Given the description of an element on the screen output the (x, y) to click on. 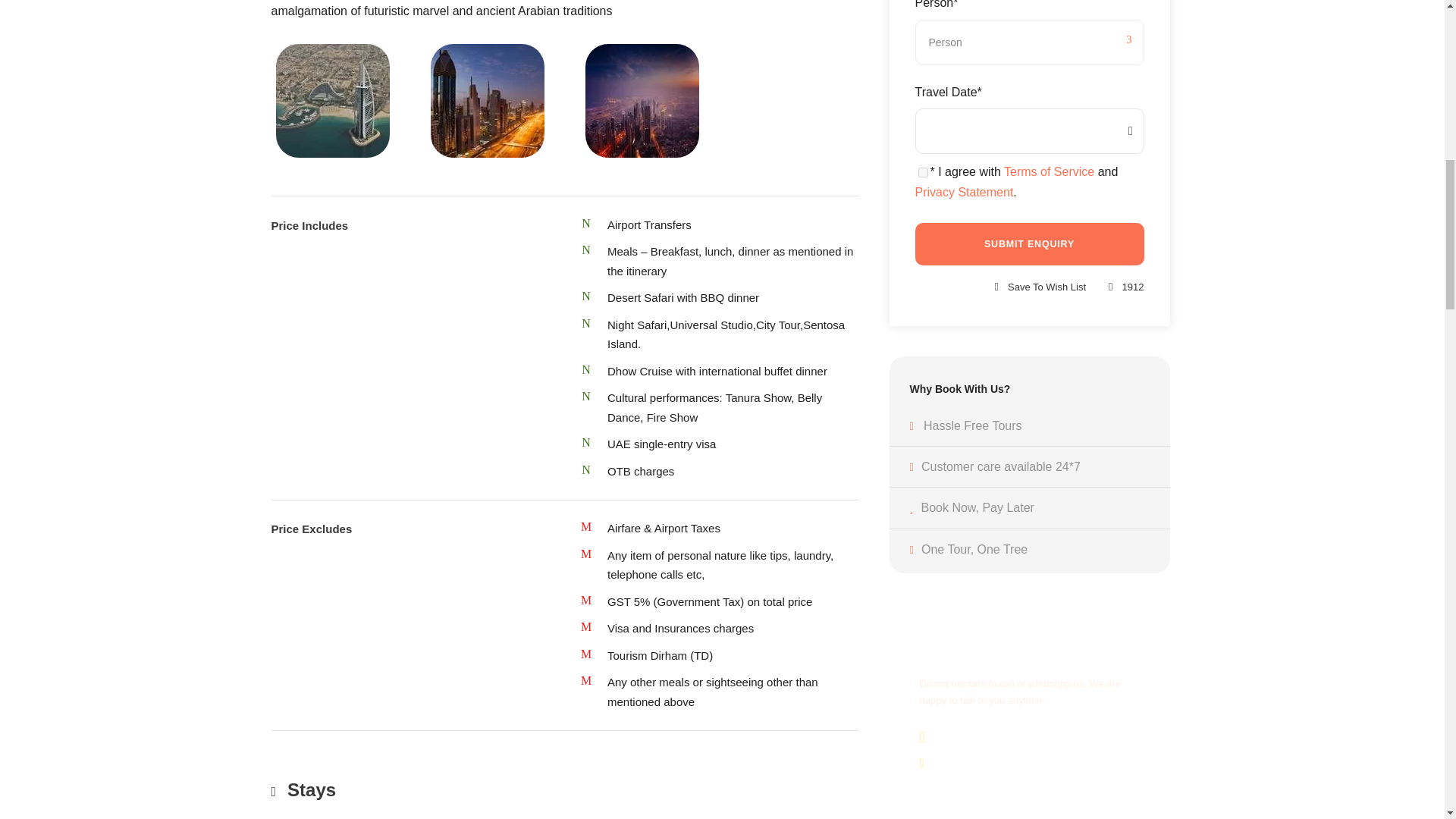
Submit Enquiry (1028, 243)
piotr-chrobot-6oUsyeYXgTg-unsplash (641, 101)
on (922, 172)
roman-logov-jomuw0-3F8A-unsplash (333, 101)
